Given the description of an element on the screen output the (x, y) to click on. 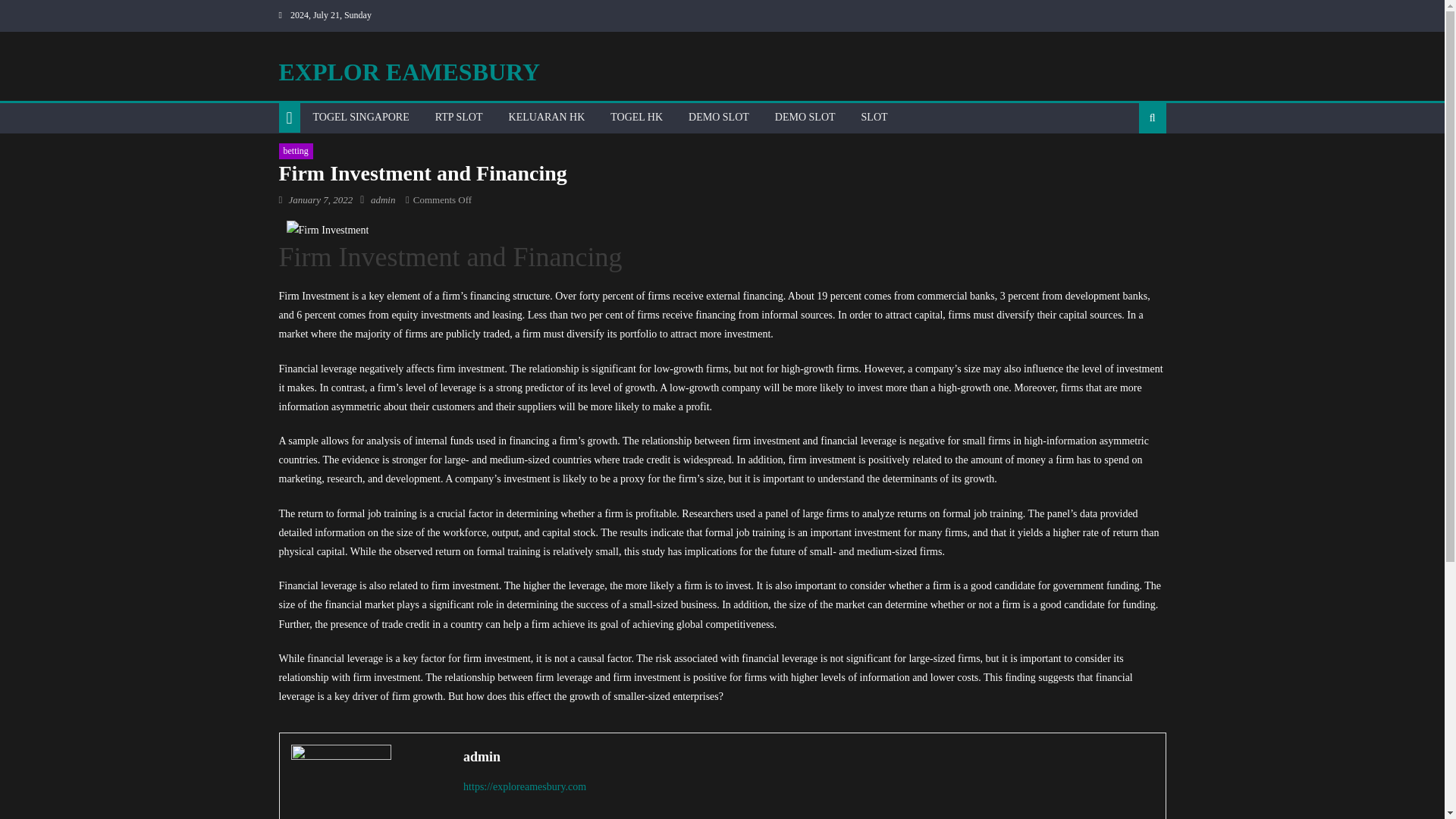
Search (1128, 166)
SLOT (874, 117)
DEMO SLOT (718, 117)
admin (808, 756)
DEMO SLOT (804, 117)
KELUARAN HK (546, 117)
TOGEL HK (636, 117)
EXPLOR EAMESBURY (409, 71)
RTP SLOT (459, 117)
betting (296, 151)
TOGEL SINGAPORE (360, 117)
admin (383, 199)
January 7, 2022 (320, 199)
